Given the description of an element on the screen output the (x, y) to click on. 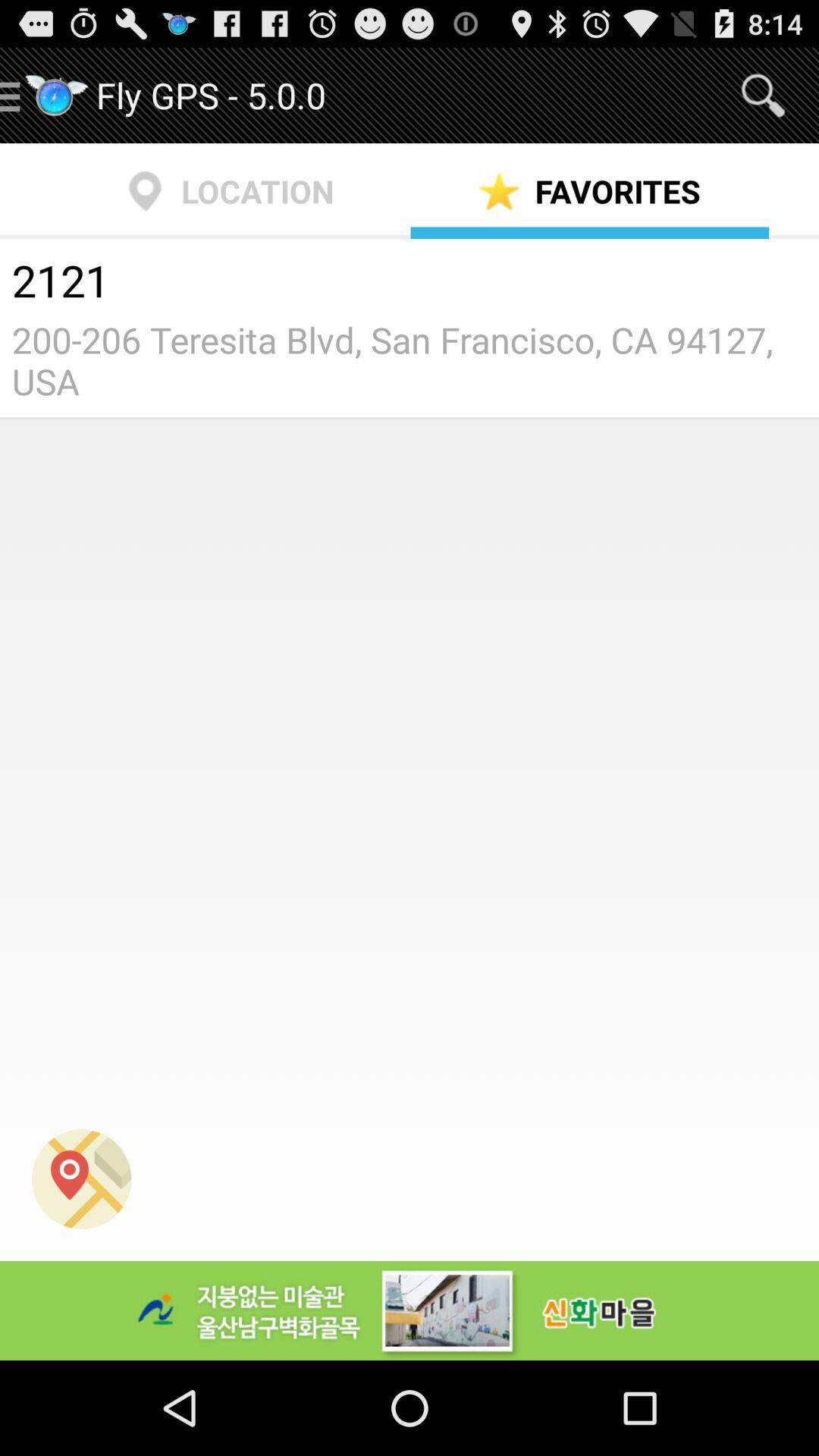
tap icon below 200 206 teresita item (81, 1179)
